Given the description of an element on the screen output the (x, y) to click on. 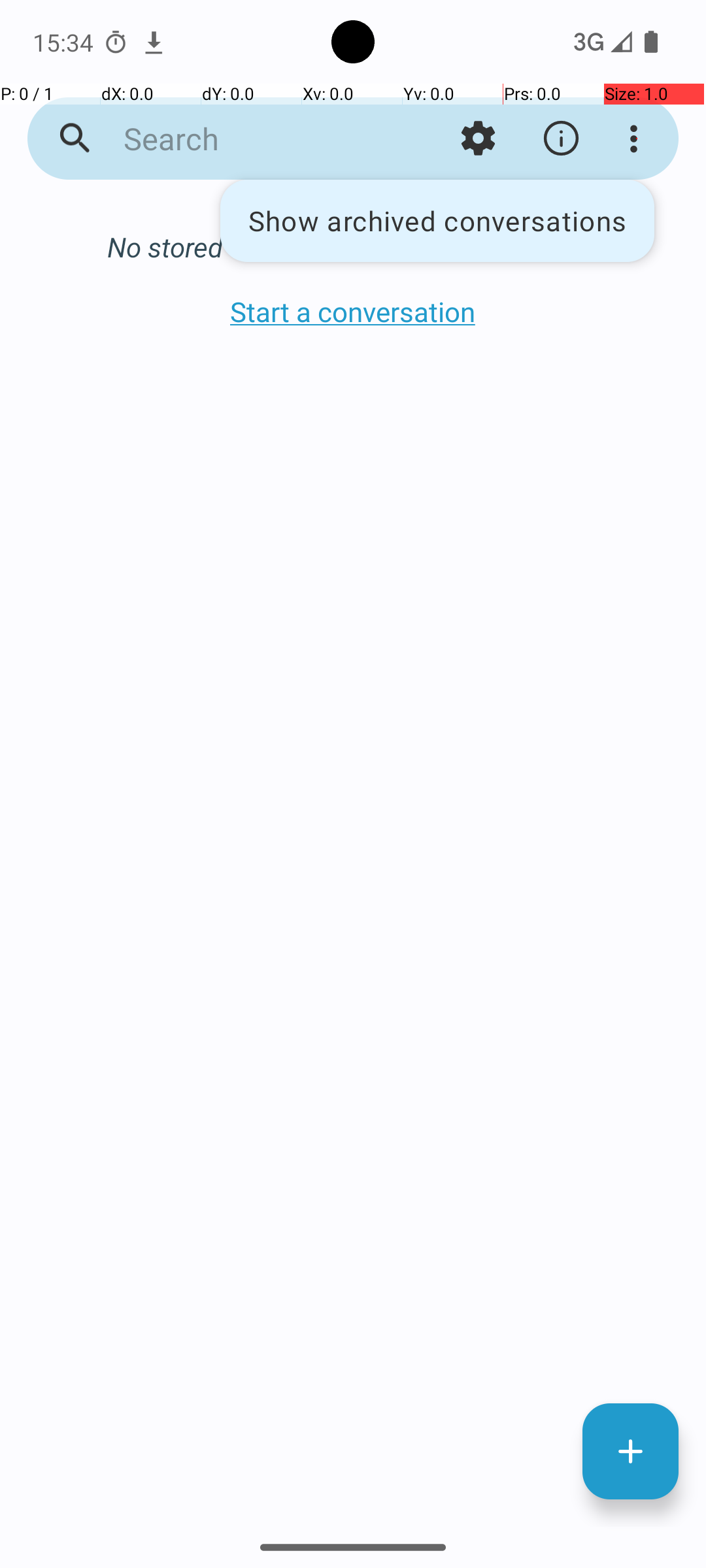
Show archived conversations Element type: android.widget.TextView (436, 220)
